Given the description of an element on the screen output the (x, y) to click on. 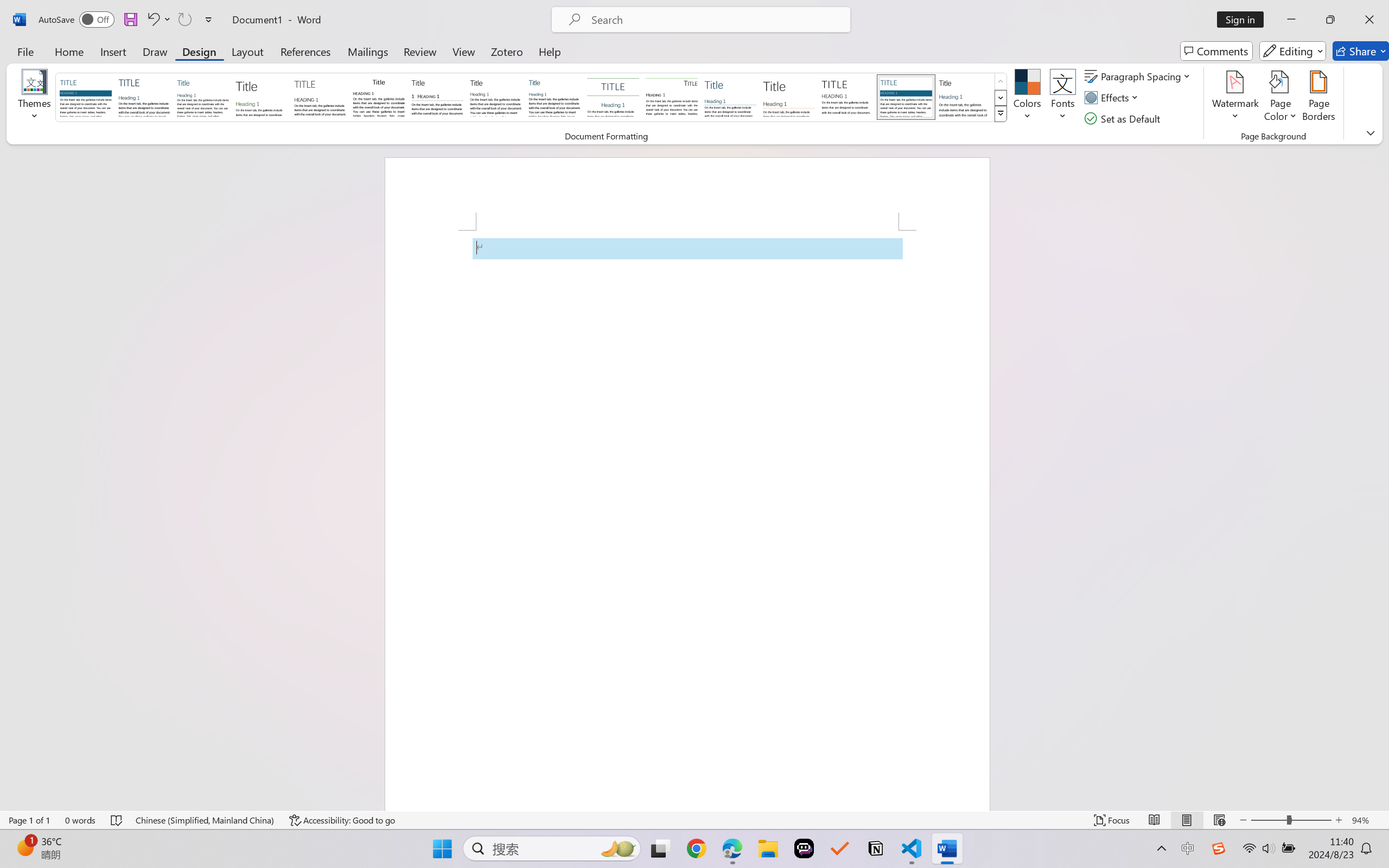
Set as Default (1124, 118)
Sign in (1244, 19)
Basic (Elegant) (144, 96)
Centered (612, 96)
Can't Repeat (184, 19)
